Given the description of an element on the screen output the (x, y) to click on. 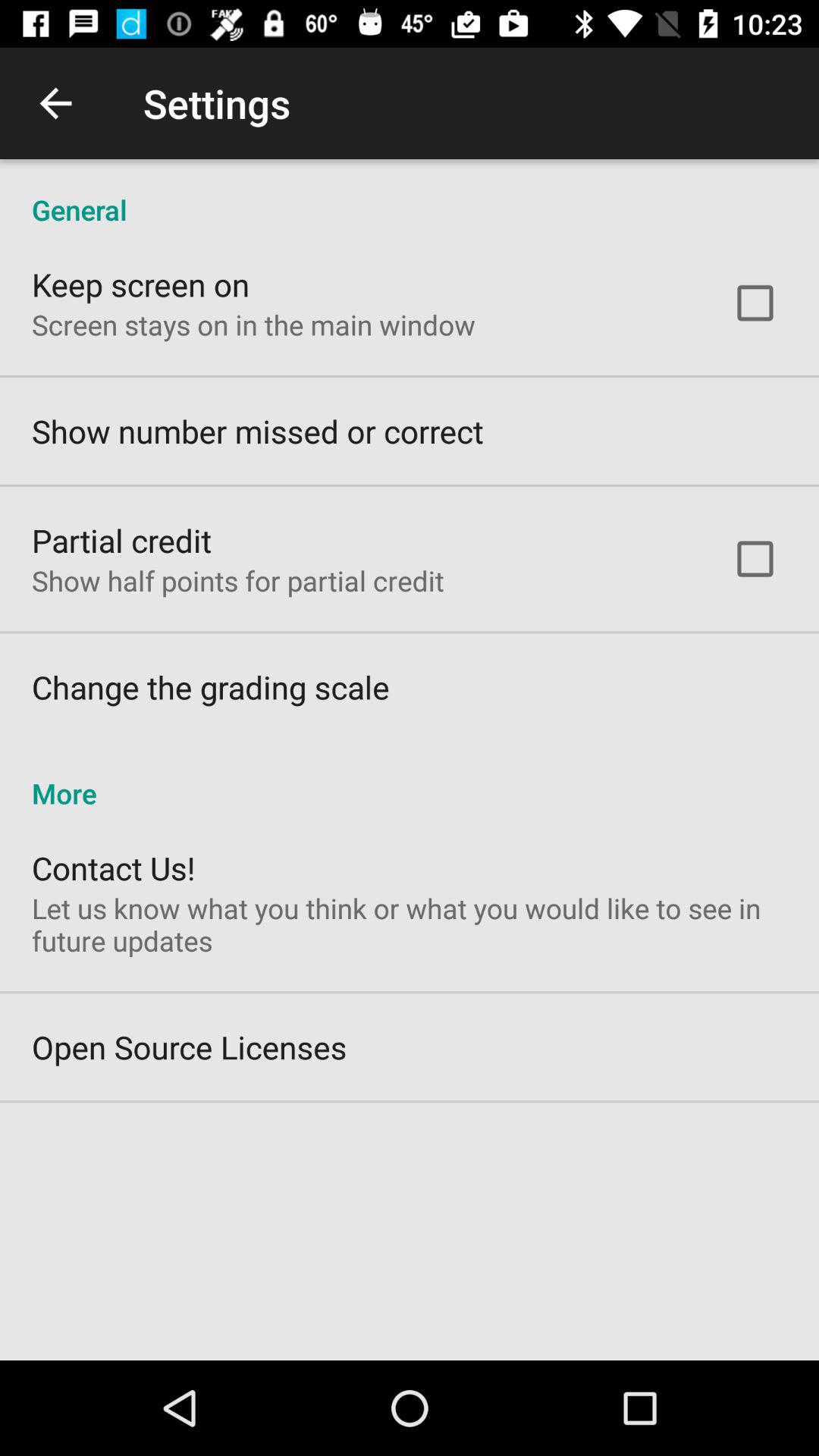
press more icon (409, 777)
